Given the description of an element on the screen output the (x, y) to click on. 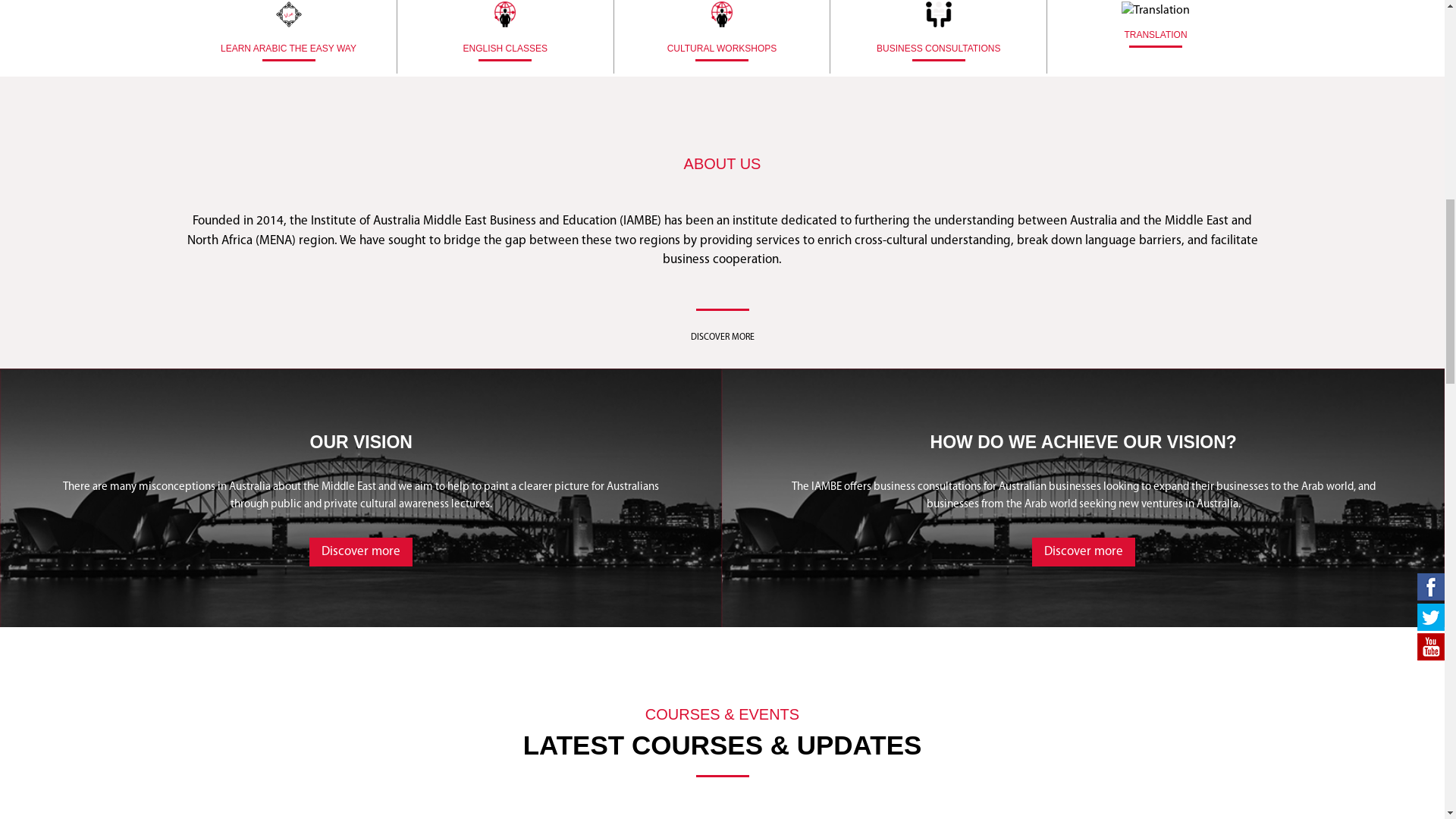
COURSES & EVENTS Element type: text (65, 164)
OUR TEAM Element type: text (47, 292)
KITABEE1 Element type: text (45, 215)
2 Element type: text (733, 757)
CONTACT US Element type: text (53, 342)
KITABEE 2 Element type: text (46, 190)
1 Element type: text (710, 757)
ABOUT US Element type: text (47, 139)
TESTIMONIALS Element type: text (56, 241)
EXPO 2020 DUBAI Element type: text (63, 266)
HOME PAGE Element type: text (50, 113)
INTERNSHIP PROGRAM Element type: text (73, 317)
